Given the description of an element on the screen output the (x, y) to click on. 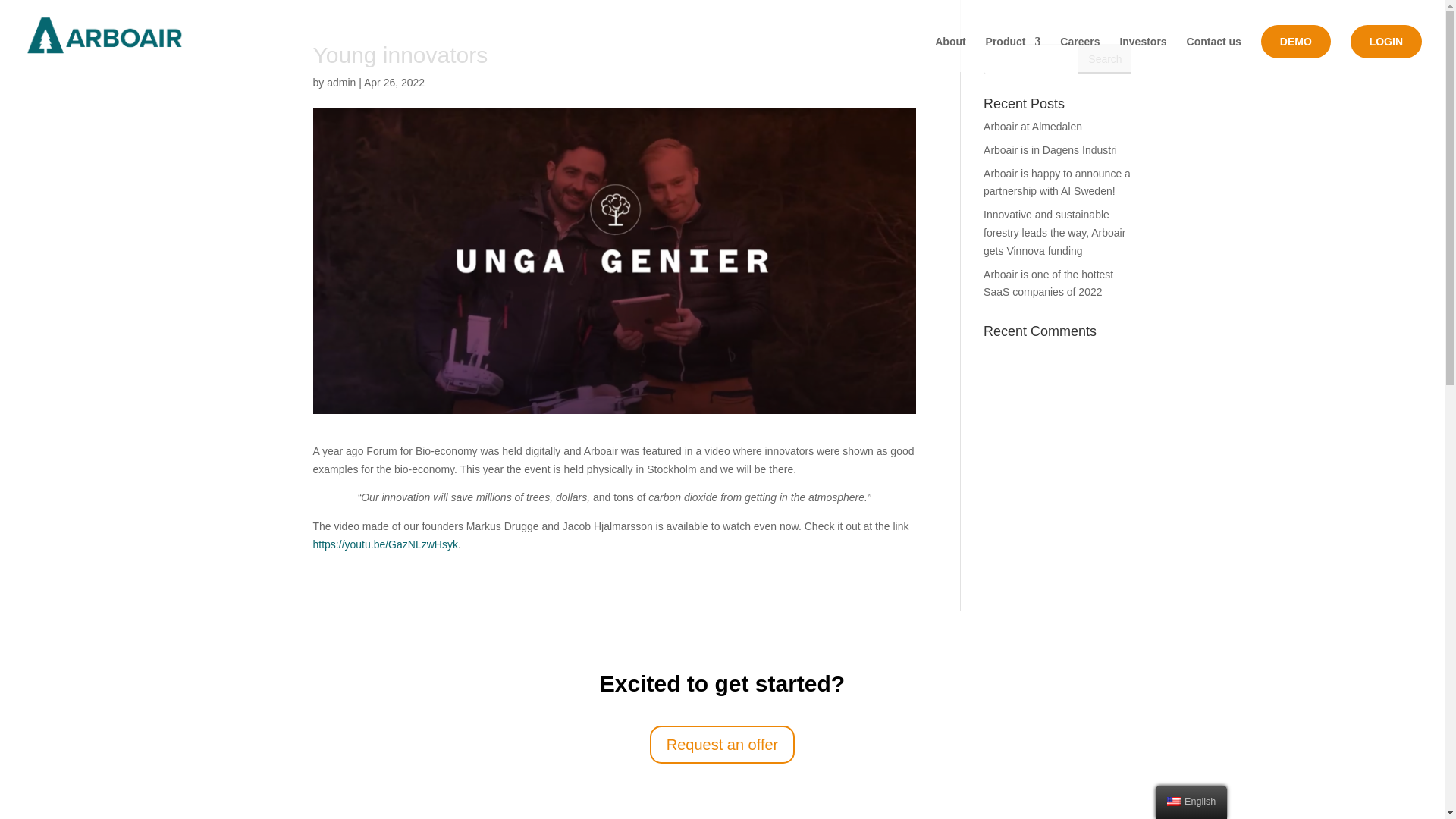
Arboair at Almedalen (1032, 126)
Search (1104, 59)
Product (1013, 54)
Posts by admin (340, 82)
English (1191, 802)
Careers (1079, 54)
LOGIN (1386, 41)
DEMO (1295, 41)
Contact us (1213, 54)
Investors (1142, 54)
Search (1104, 59)
Request an offer (721, 744)
English (1173, 800)
admin (340, 82)
